Given the description of an element on the screen output the (x, y) to click on. 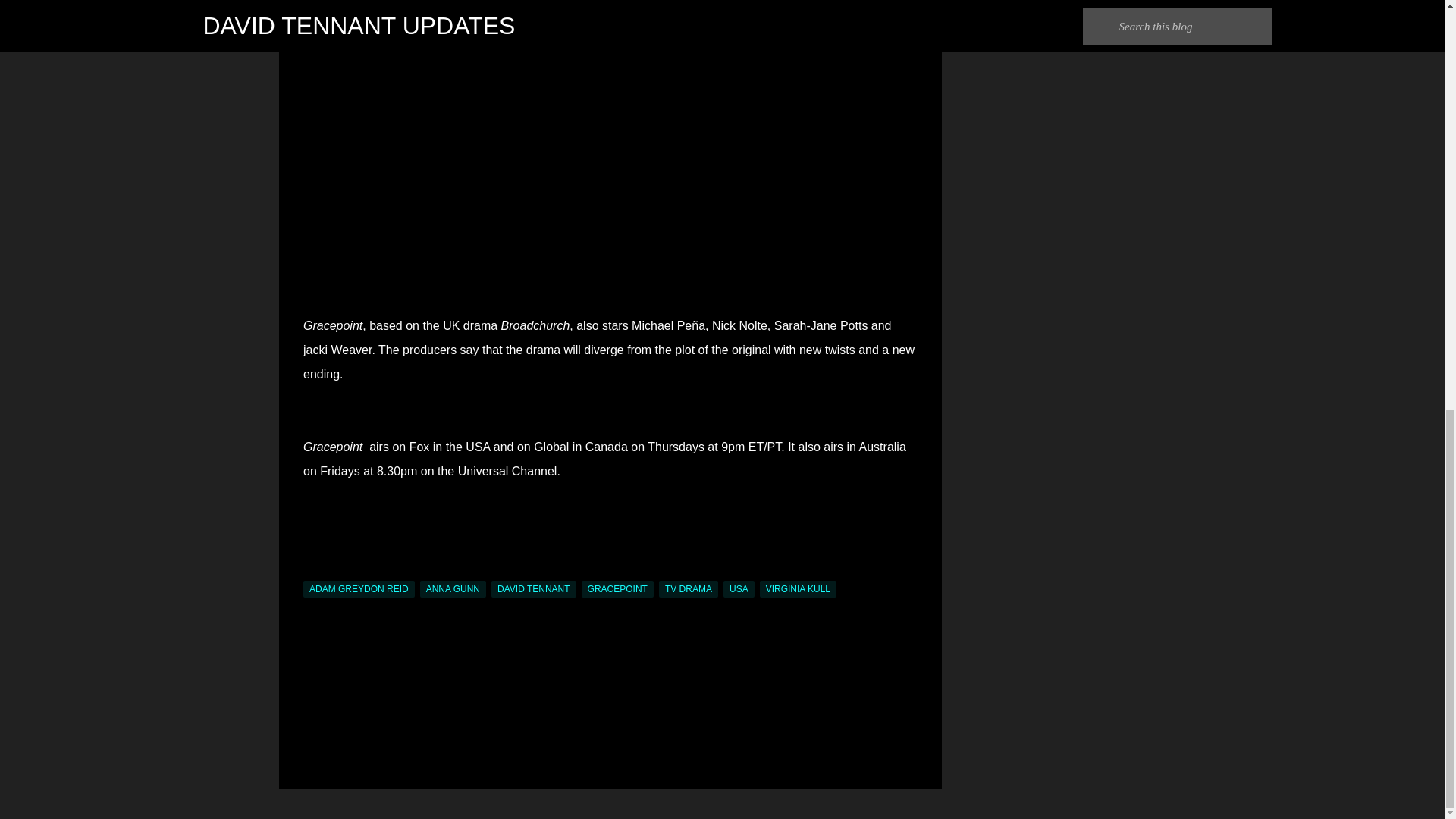
VIRGINIA KULL (797, 588)
USA (738, 588)
Email Post (311, 571)
DAVID TENNANT (534, 588)
TV DRAMA (688, 588)
ADAM GREYDON REID (358, 588)
GRACEPOINT (616, 588)
ANNA GUNN (453, 588)
